Given the description of an element on the screen output the (x, y) to click on. 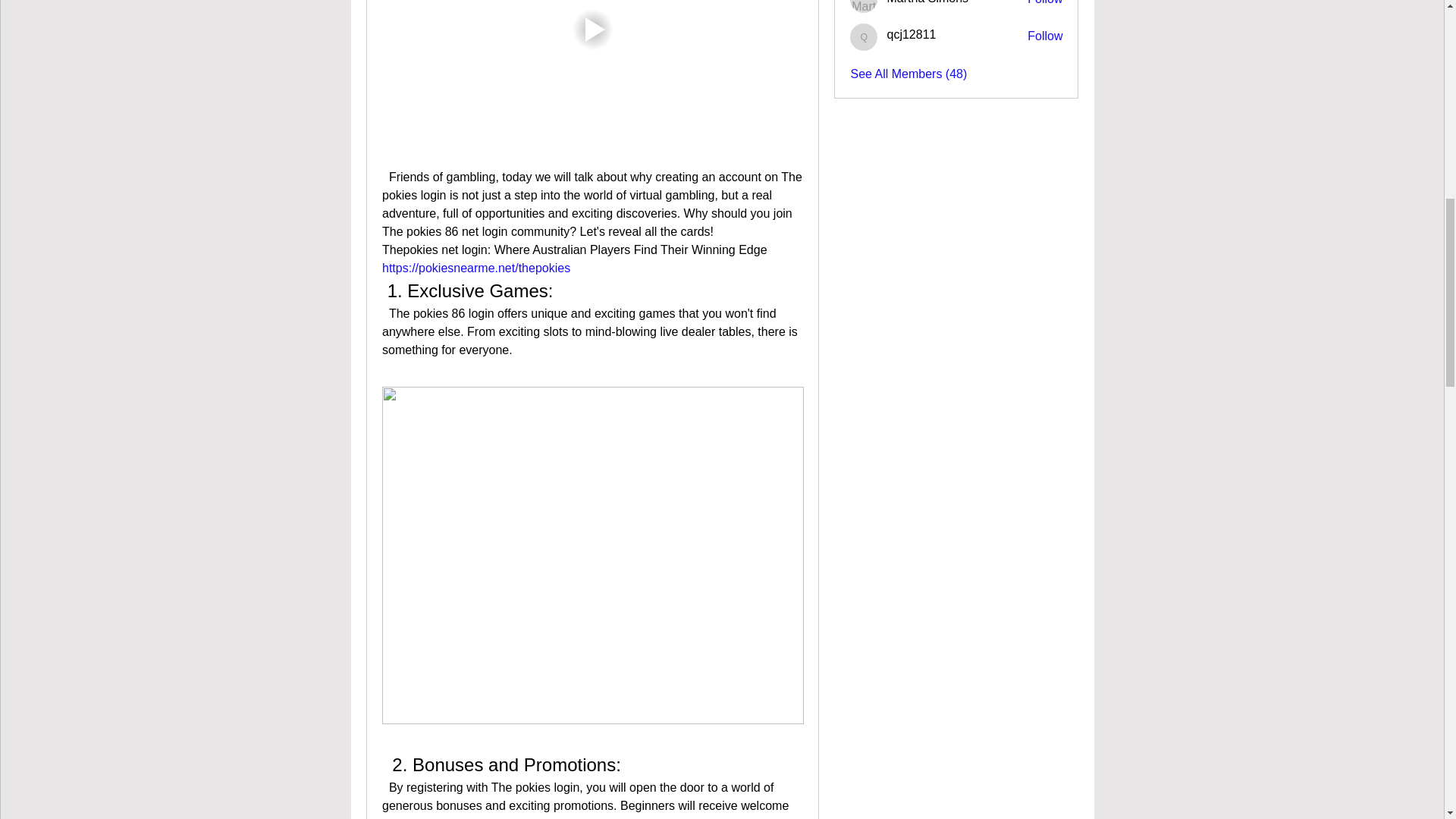
Martha Simons (863, 6)
Martha Simons (927, 2)
qcj12811 (911, 34)
Follow (1044, 3)
Follow (1044, 36)
qcj12811 (911, 34)
qcj12811 (863, 36)
